Given the description of an element on the screen output the (x, y) to click on. 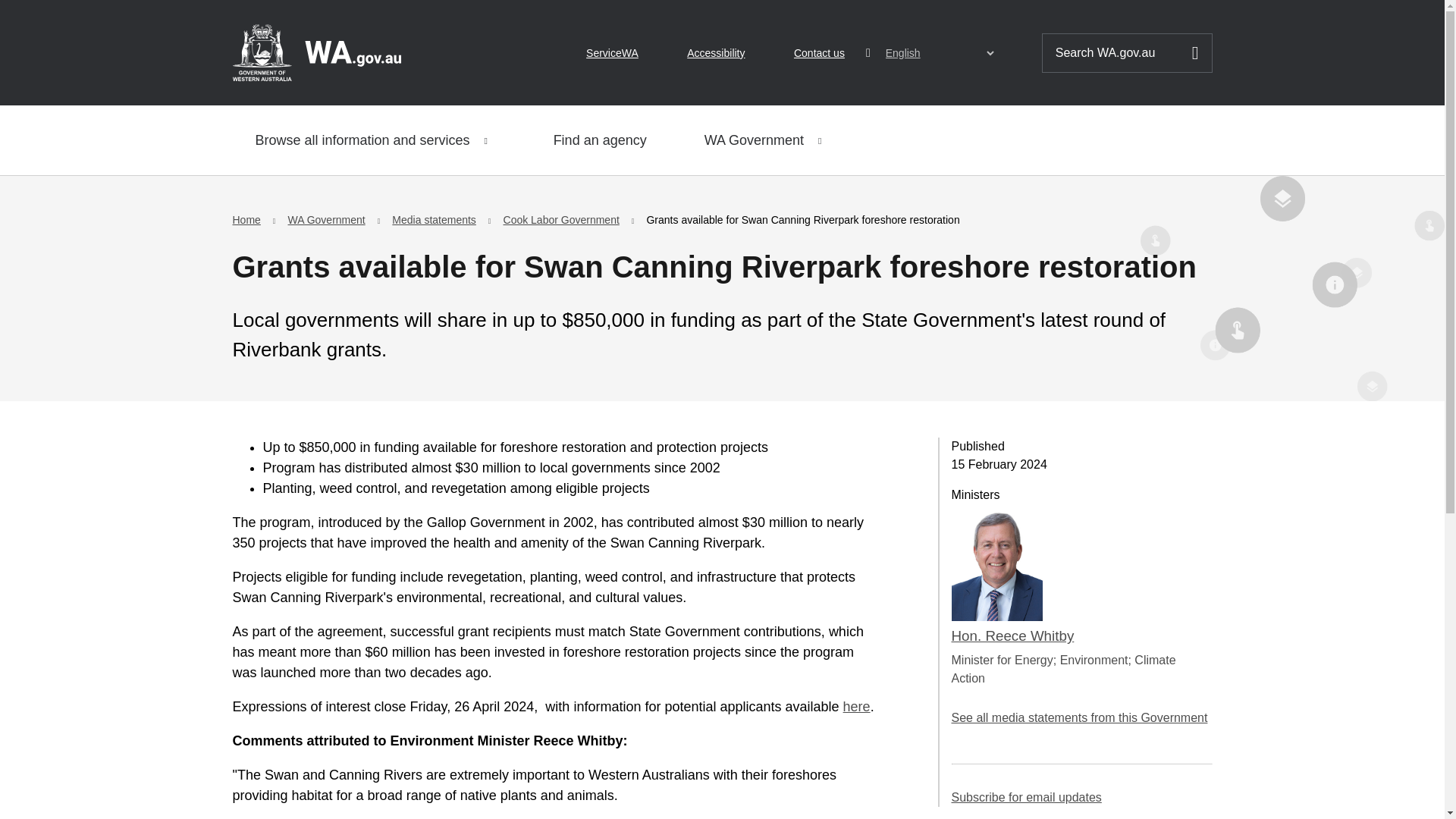
ServiceWA (612, 53)
Browse all information and services (374, 140)
Contact us (818, 53)
Skip to main content (22, 16)
Go to the WA.gov.au homepage (315, 51)
Accessibility (715, 53)
